Given the description of an element on the screen output the (x, y) to click on. 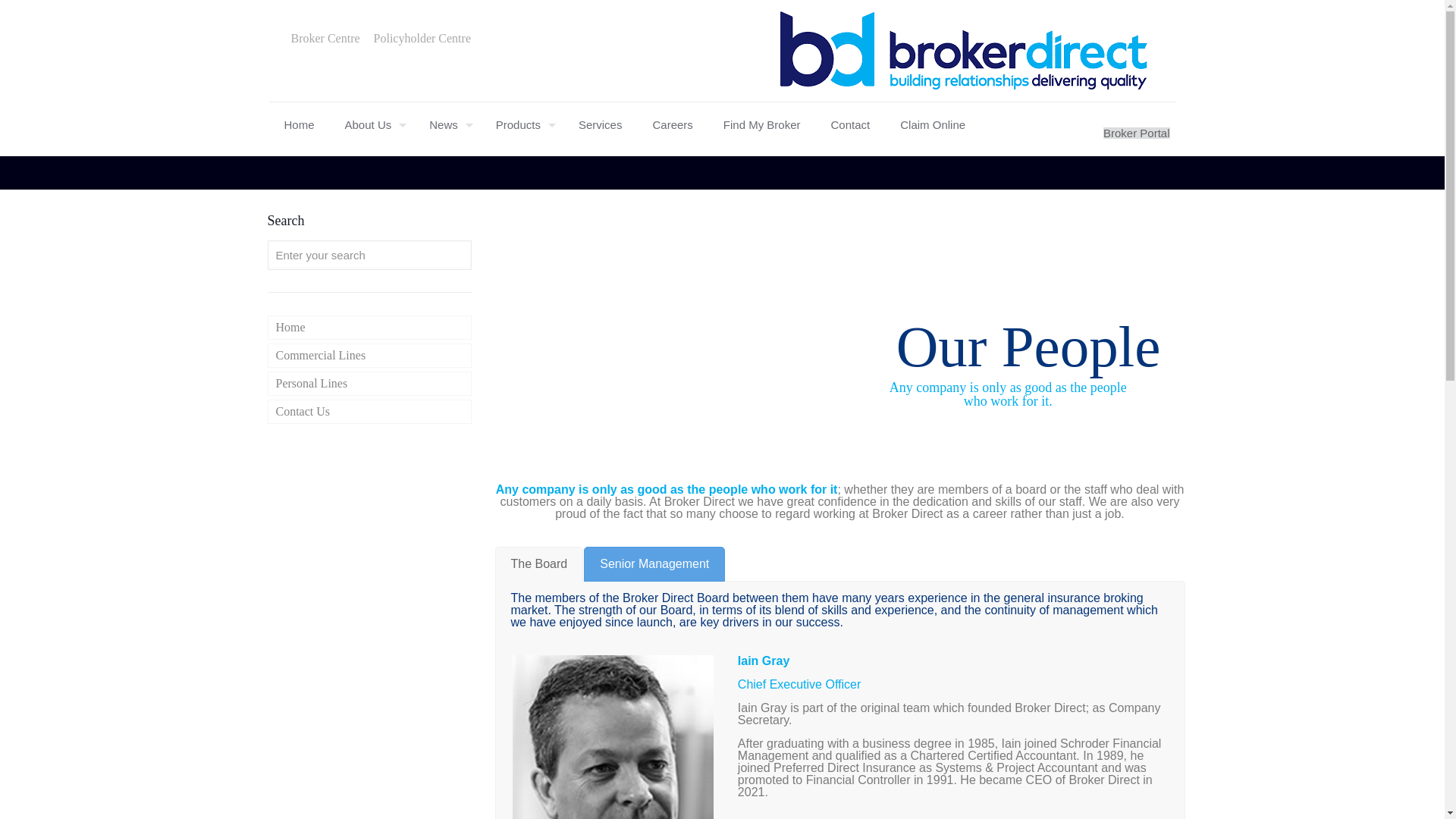
Broker Centre (325, 38)
Find My Broker (761, 125)
Careers (672, 125)
Policyholder Centre (422, 38)
About Us (372, 125)
News (446, 125)
Home (298, 125)
Claim Online (932, 125)
Services (600, 125)
Products (521, 125)
Broker Portal (1136, 132)
Broker Direct Plc (963, 50)
The Board (539, 564)
Broker Portal (1136, 132)
Senior Management (654, 564)
